Given the description of an element on the screen output the (x, y) to click on. 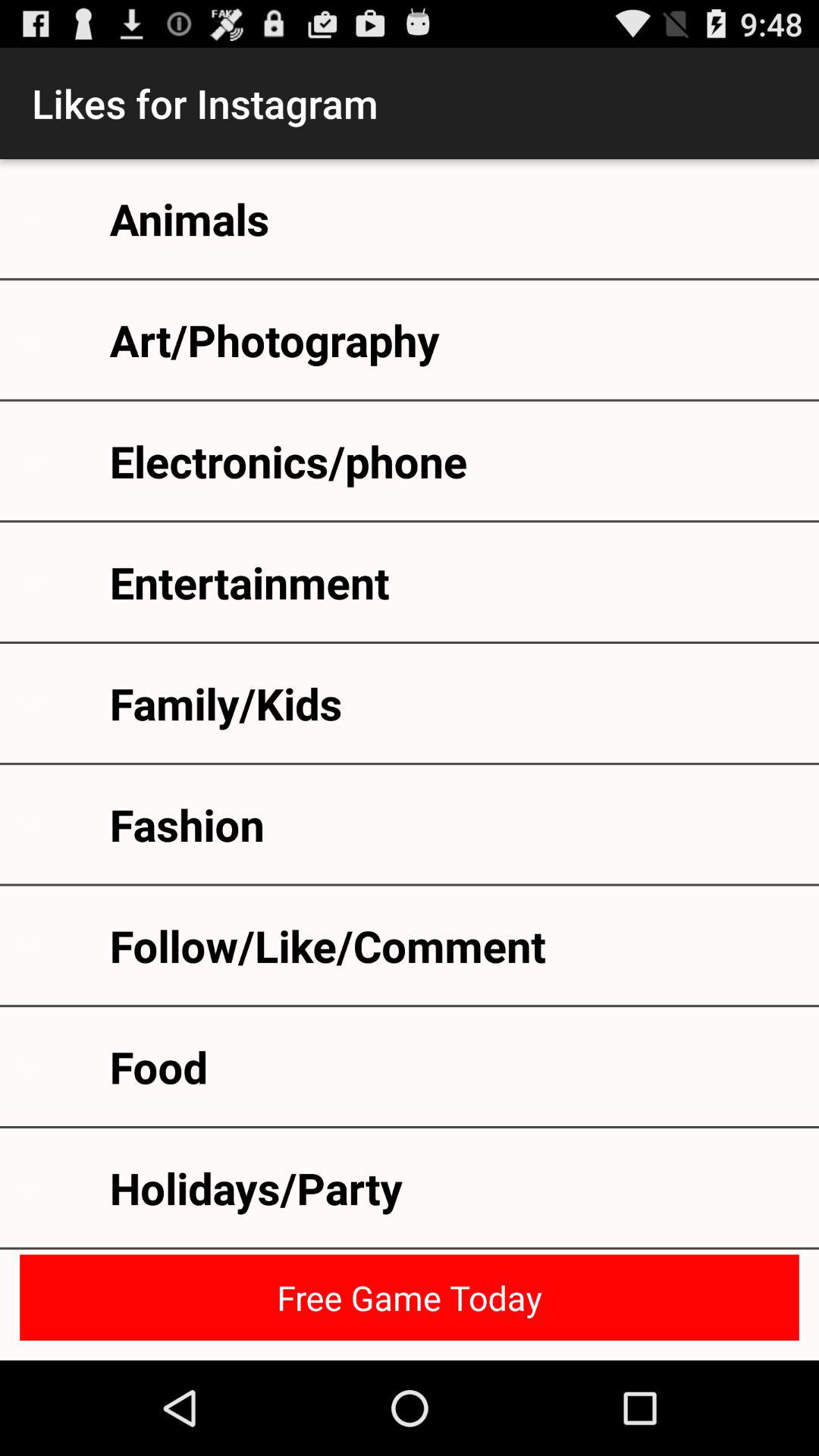
launch the icon below the holidays/party icon (409, 1297)
